Given the description of an element on the screen output the (x, y) to click on. 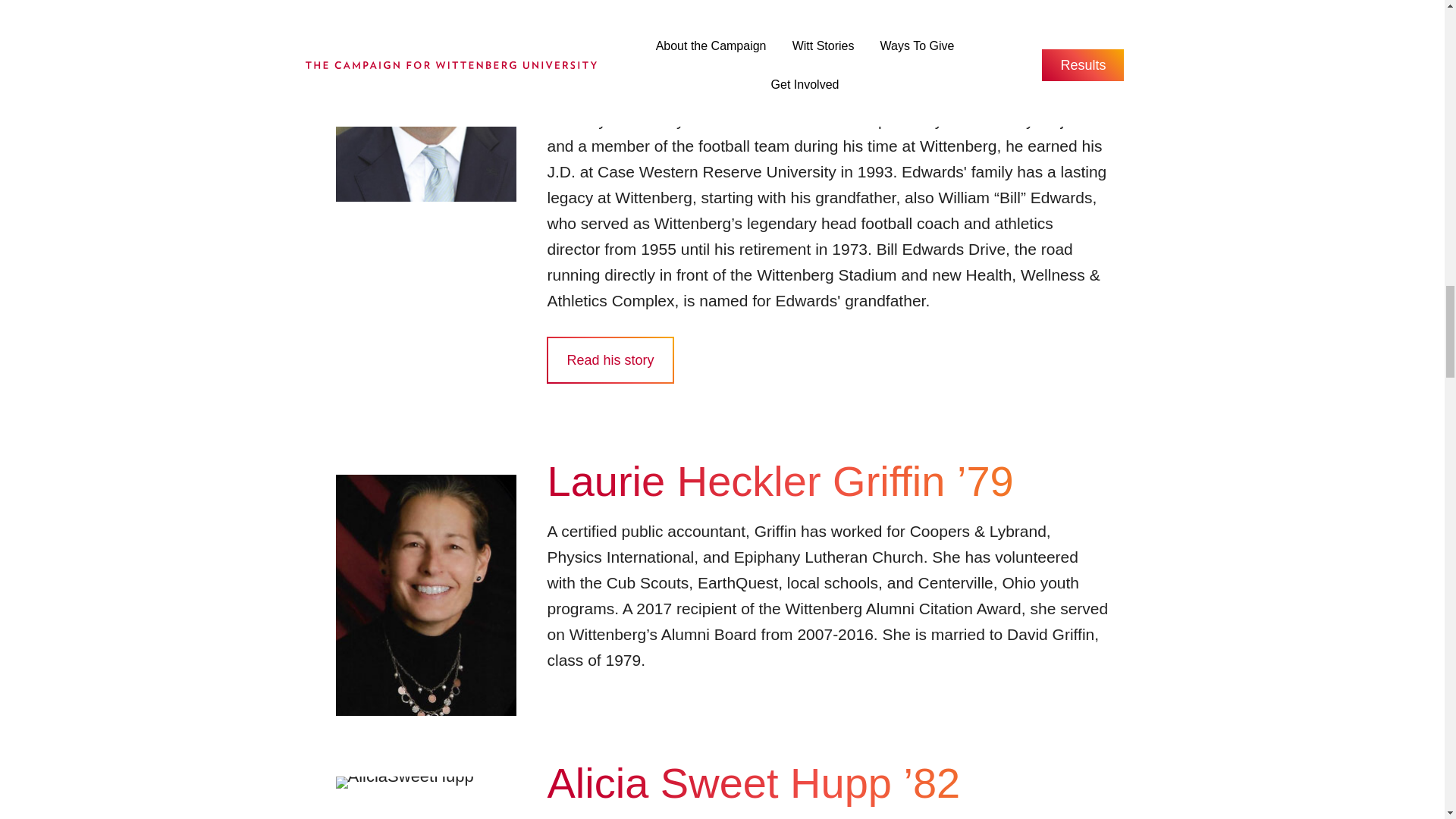
AliciaSweetHupp (403, 782)
Read his story (609, 360)
Bill Edwards (425, 100)
